Given the description of an element on the screen output the (x, y) to click on. 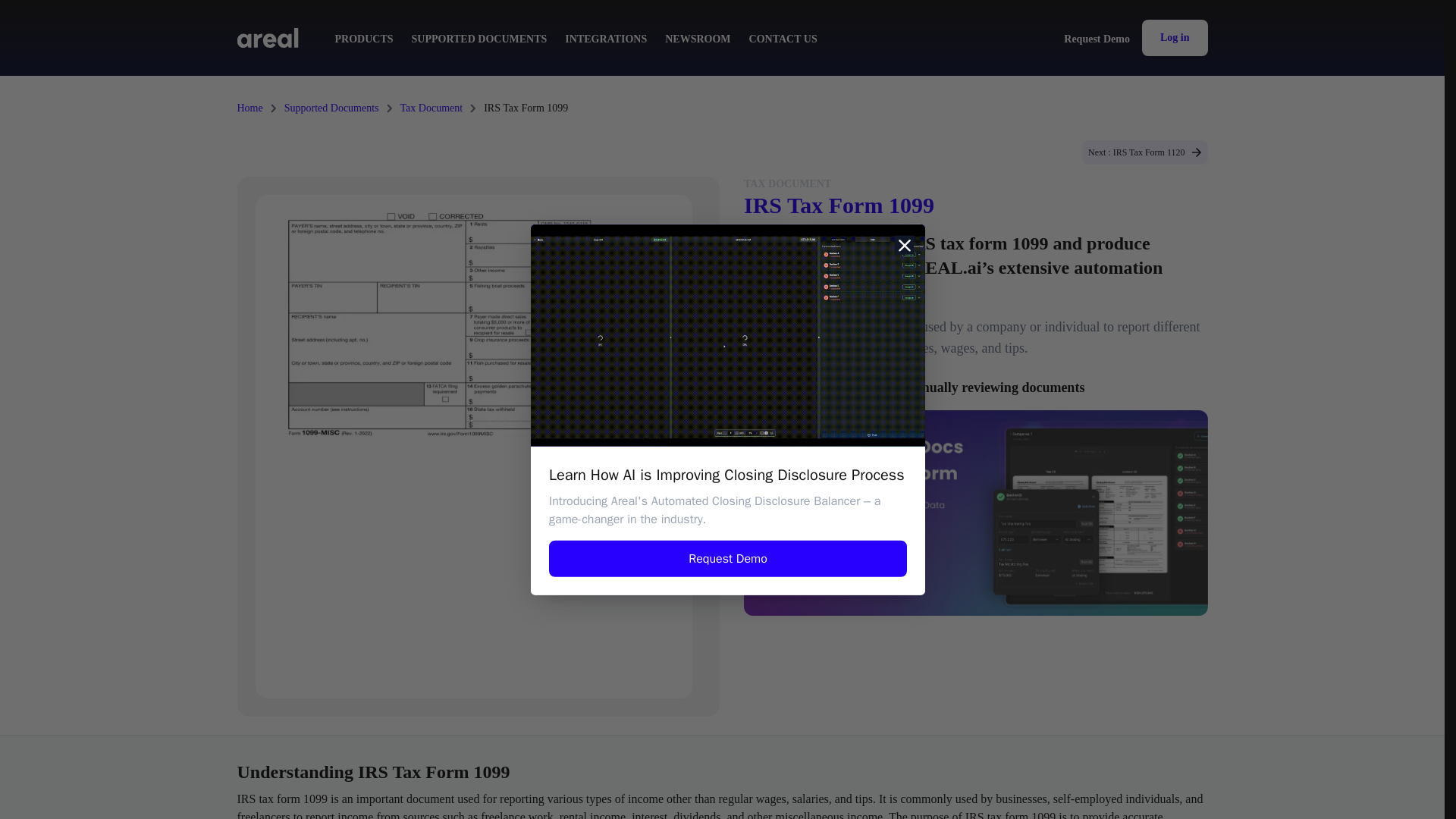
CONTACT US (782, 39)
NEWSROOM (697, 39)
INTEGRATIONS (605, 39)
Next : IRS Tax Form 1120 (1144, 152)
SUPPORTED DOCUMENTS (479, 39)
Tax Document (431, 107)
Home (248, 107)
PRODUCTS (363, 39)
Log in (1174, 37)
Supported Documents (330, 107)
Request Demo (1096, 37)
